Given the description of an element on the screen output the (x, y) to click on. 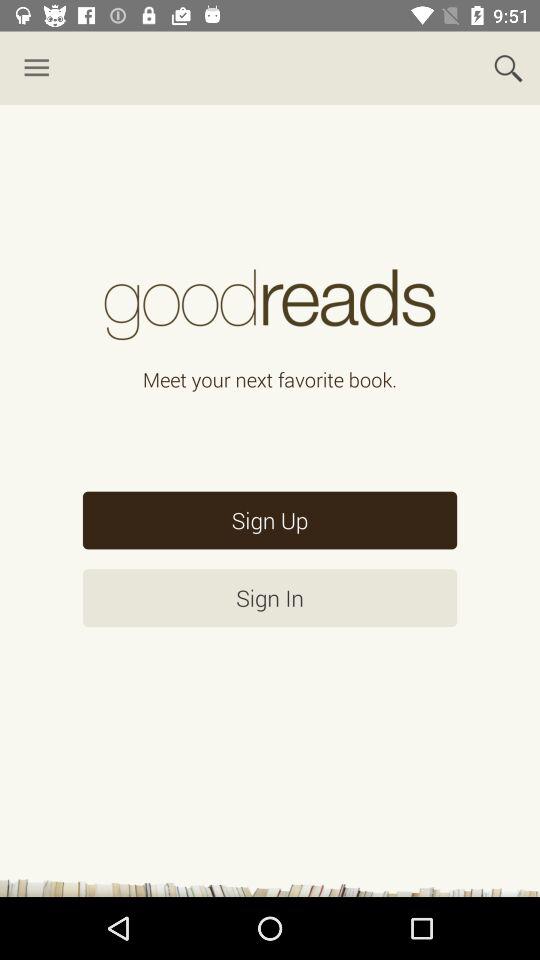
jump until sign up (269, 520)
